Given the description of an element on the screen output the (x, y) to click on. 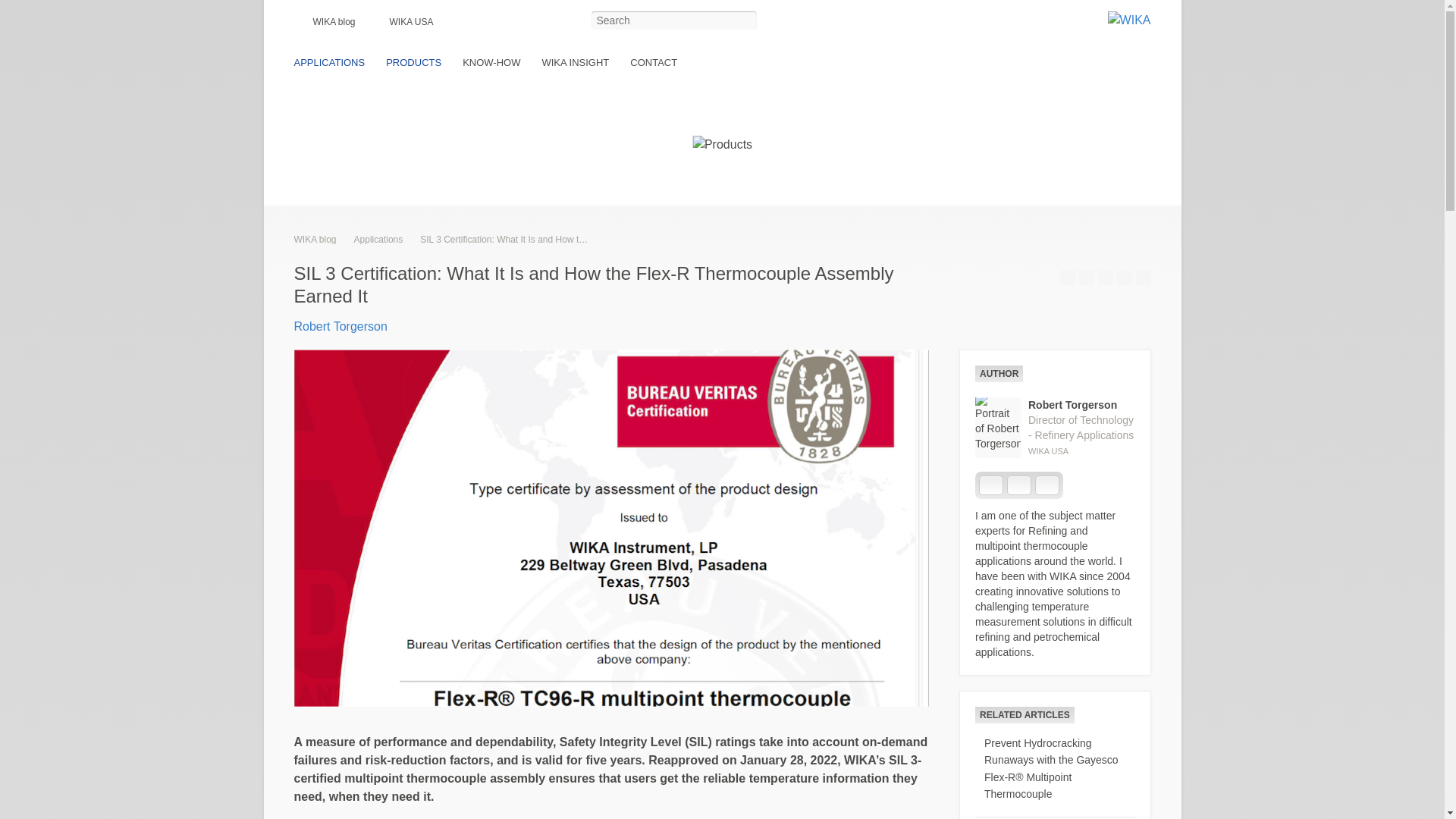
share (1123, 277)
WIKA blog (330, 21)
Overview Articles by Robert Torgerson (1047, 485)
Contact Robert Torgerson (1018, 485)
share (1067, 277)
share (1105, 277)
share (1085, 277)
Send Page URL (1143, 277)
Search (746, 22)
